Given the description of an element on the screen output the (x, y) to click on. 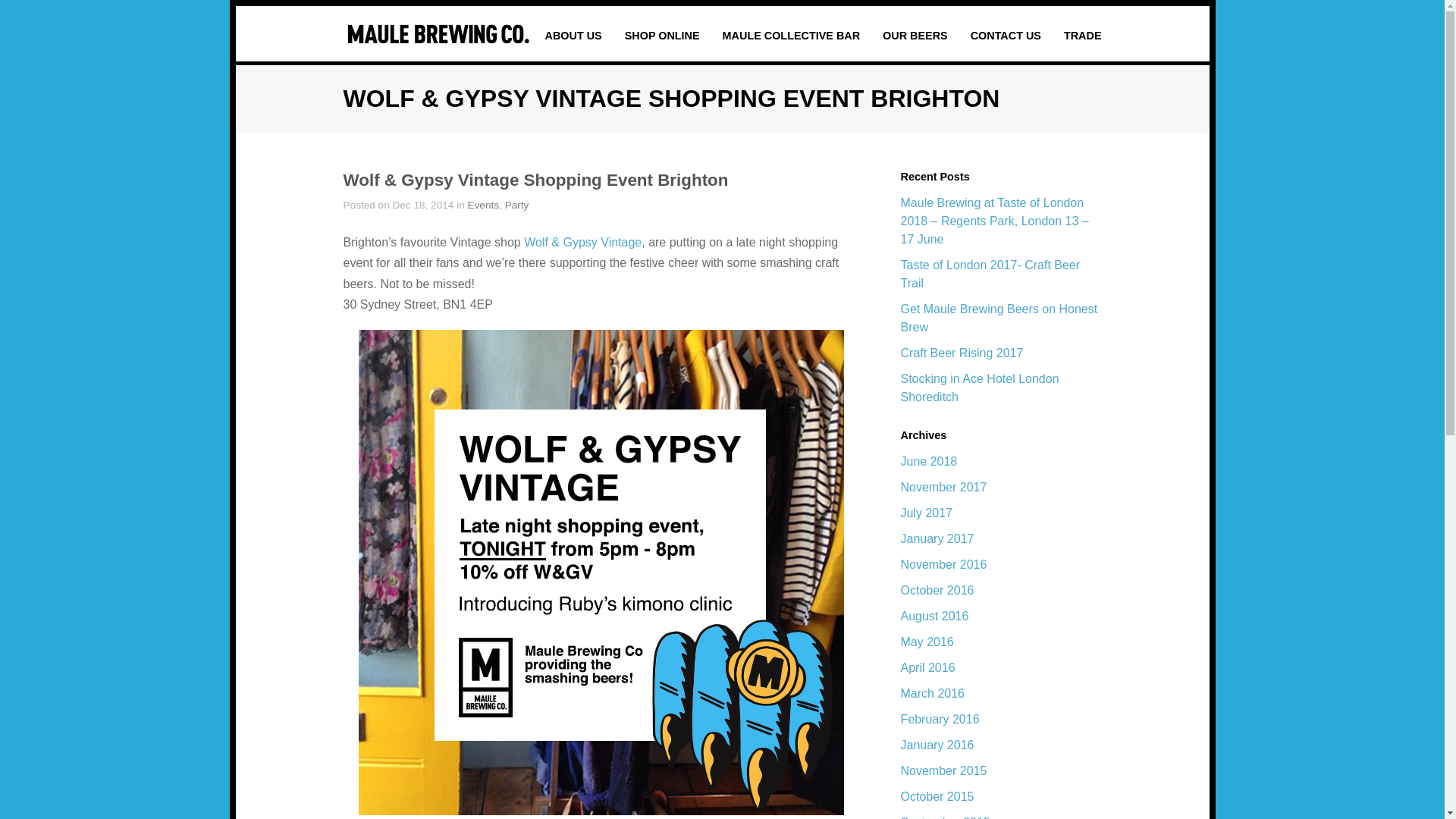
SHOP ONLINE (662, 35)
OUR BEERS (914, 35)
CONTACT US (1006, 35)
MAULE COLLECTIVE BAR (791, 35)
TRADE (1083, 35)
Party (517, 204)
Events (483, 204)
ABOUT US (573, 35)
